Given the description of an element on the screen output the (x, y) to click on. 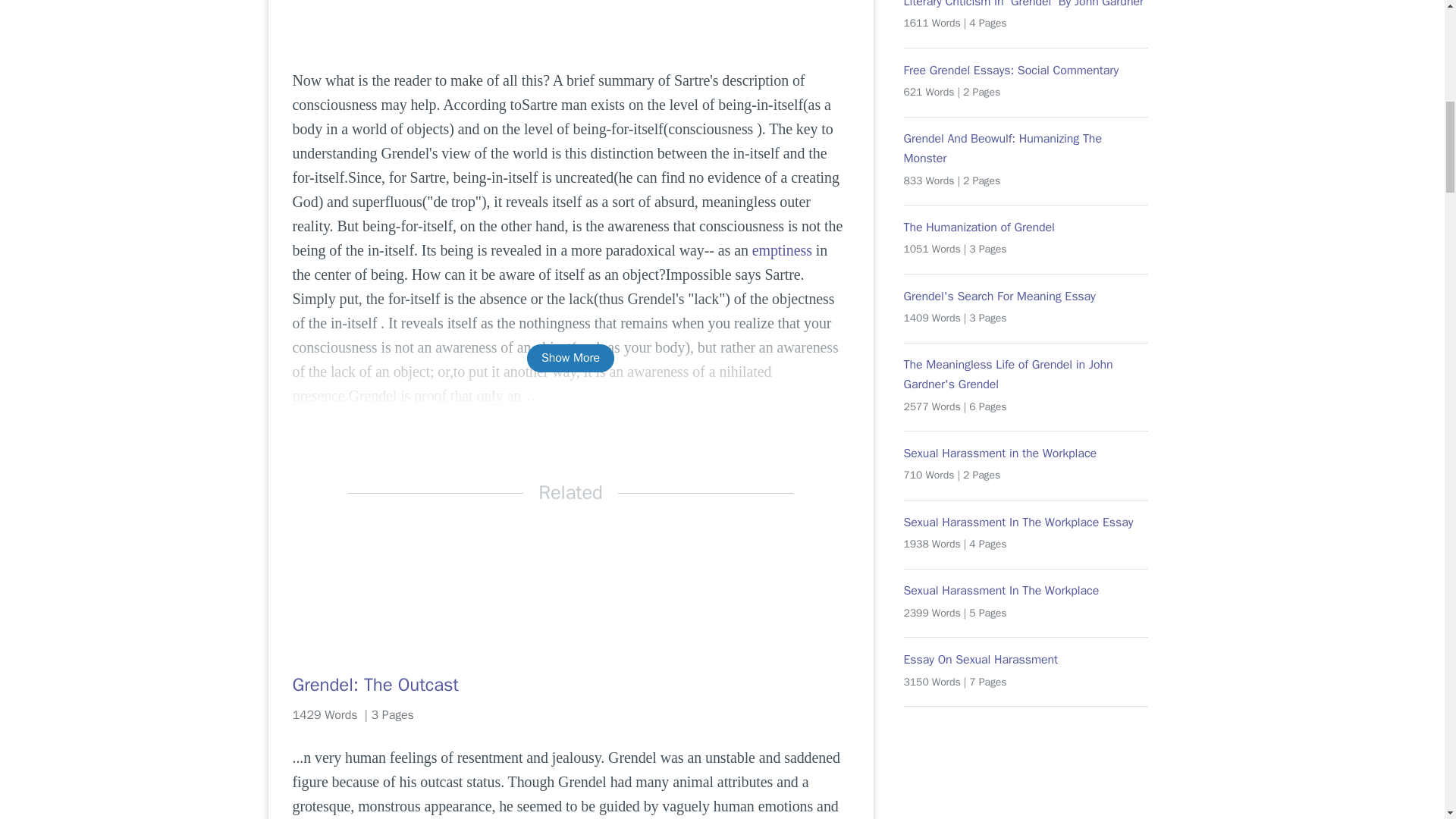
Show More (570, 357)
emptiness (782, 249)
Grendel: The Outcast (570, 684)
